Given the description of an element on the screen output the (x, y) to click on. 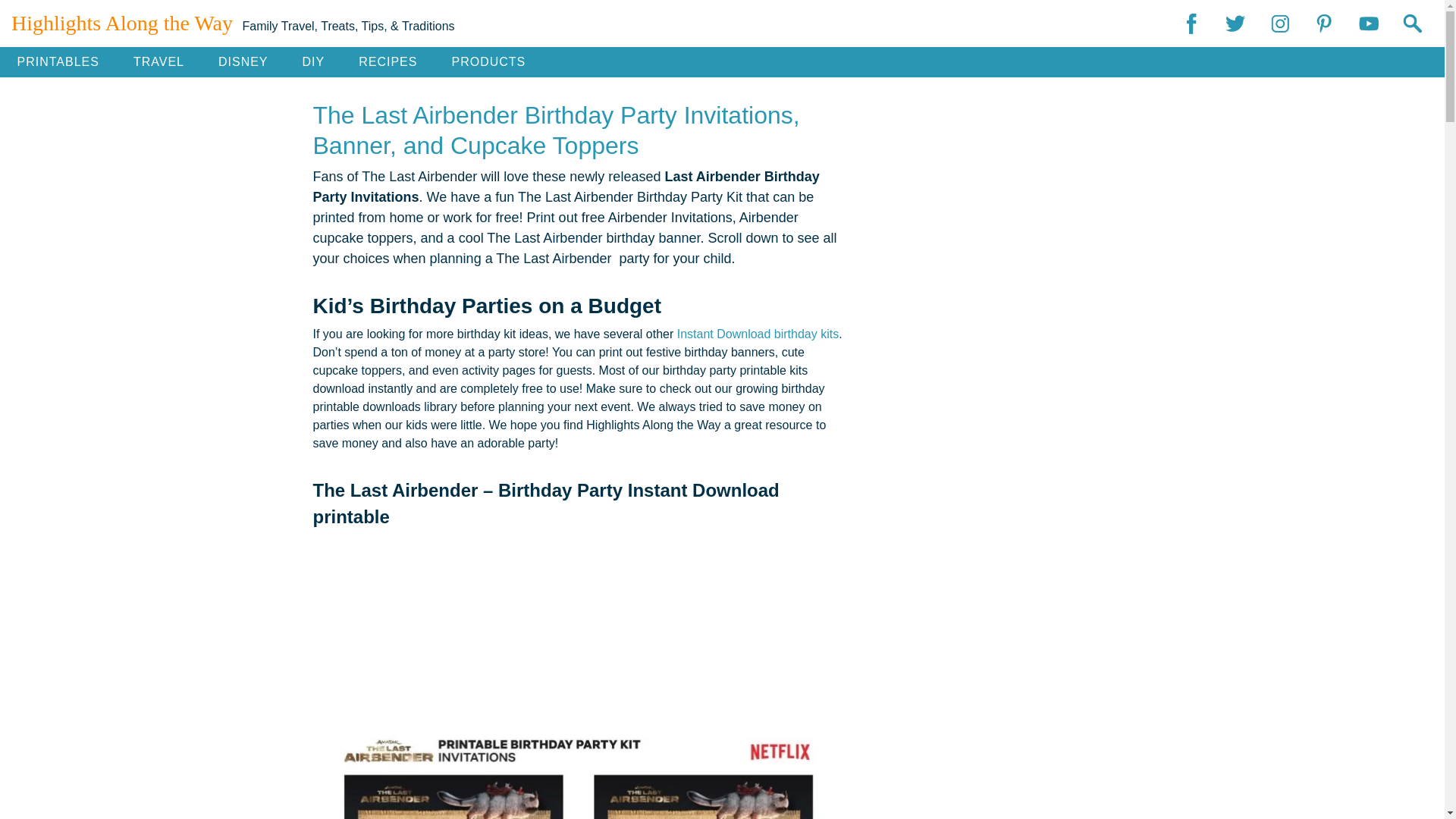
Travel (158, 61)
PRODUCTS (488, 61)
TRAVEL (158, 61)
PRINTABLES (58, 61)
DIY (313, 61)
DIY (313, 61)
Instant Download birthday kits (755, 333)
DISNEY (242, 61)
Highlights Along the Way (121, 23)
RECIPES (387, 61)
